Given the description of an element on the screen output the (x, y) to click on. 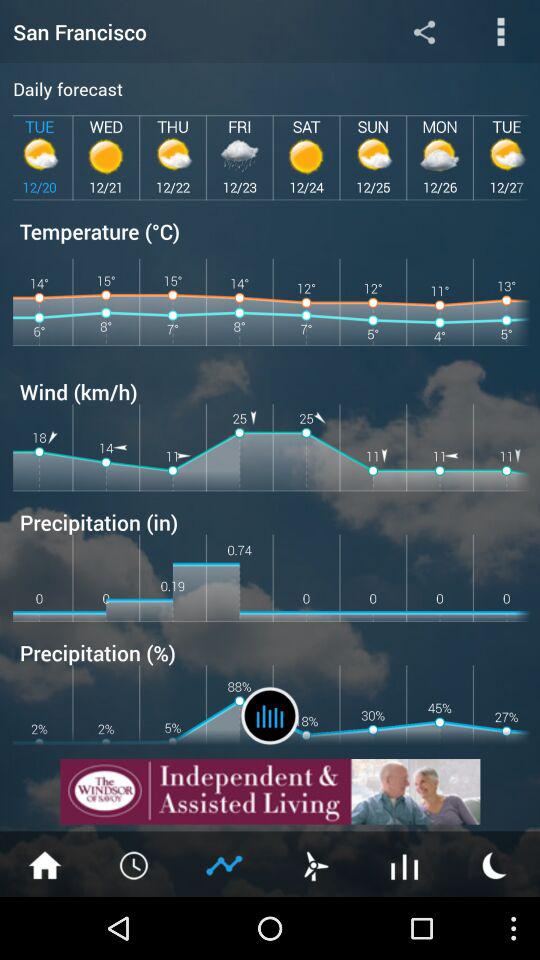
go home (45, 864)
